Given the description of an element on the screen output the (x, y) to click on. 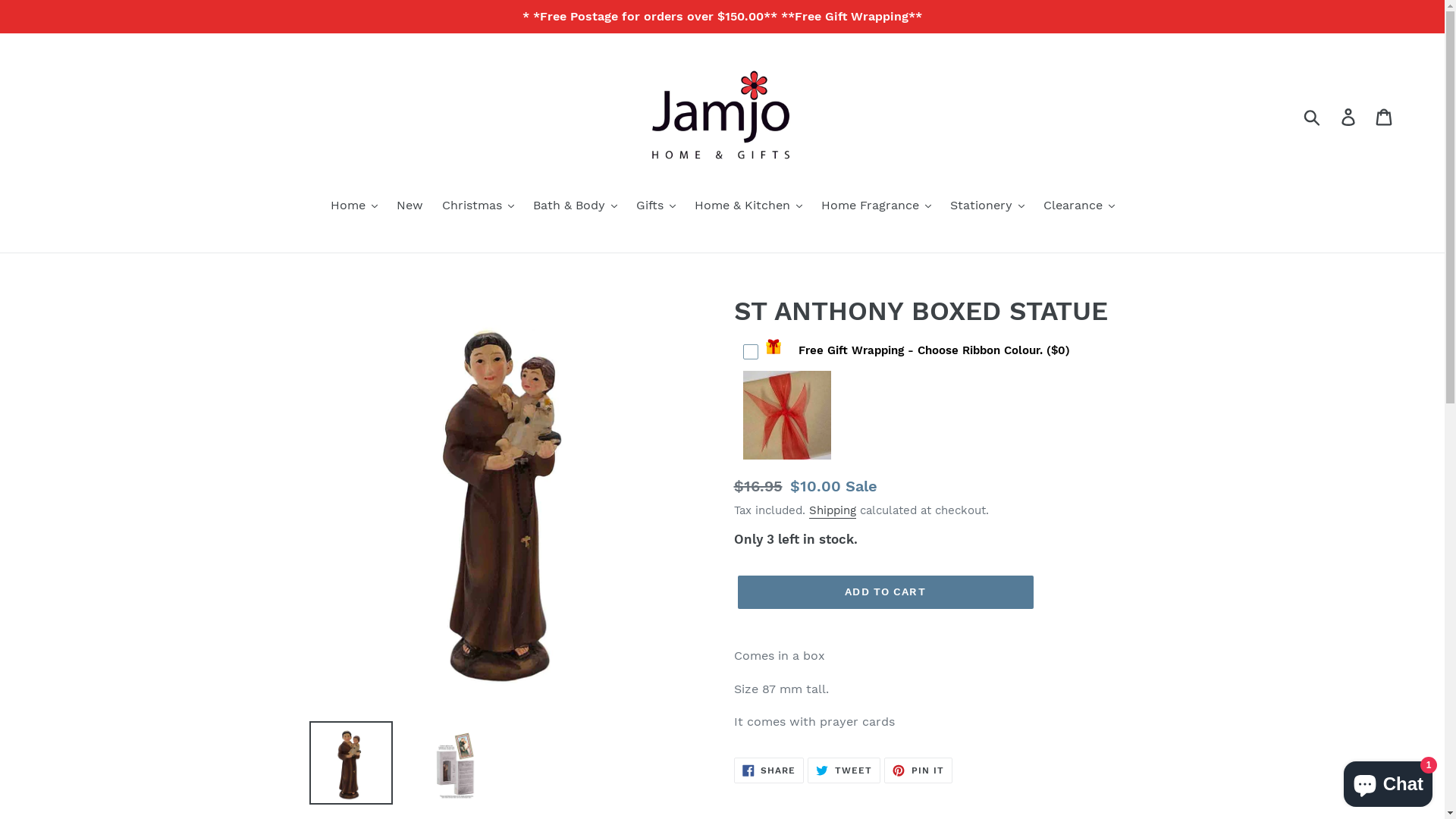
New Element type: text (408, 206)
Cart Element type: text (1384, 117)
Log in Element type: text (1349, 117)
PIN IT
PIN ON PINTEREST Element type: text (918, 770)
SHARE
SHARE ON FACEBOOK Element type: text (769, 770)
Shipping Element type: text (831, 510)
ADD TO CART Element type: text (884, 591)
Shopify online store chat Element type: hover (1388, 780)
Submit Element type: text (1312, 116)
TWEET
TWEET ON TWITTER Element type: text (843, 770)
